Given the description of an element on the screen output the (x, y) to click on. 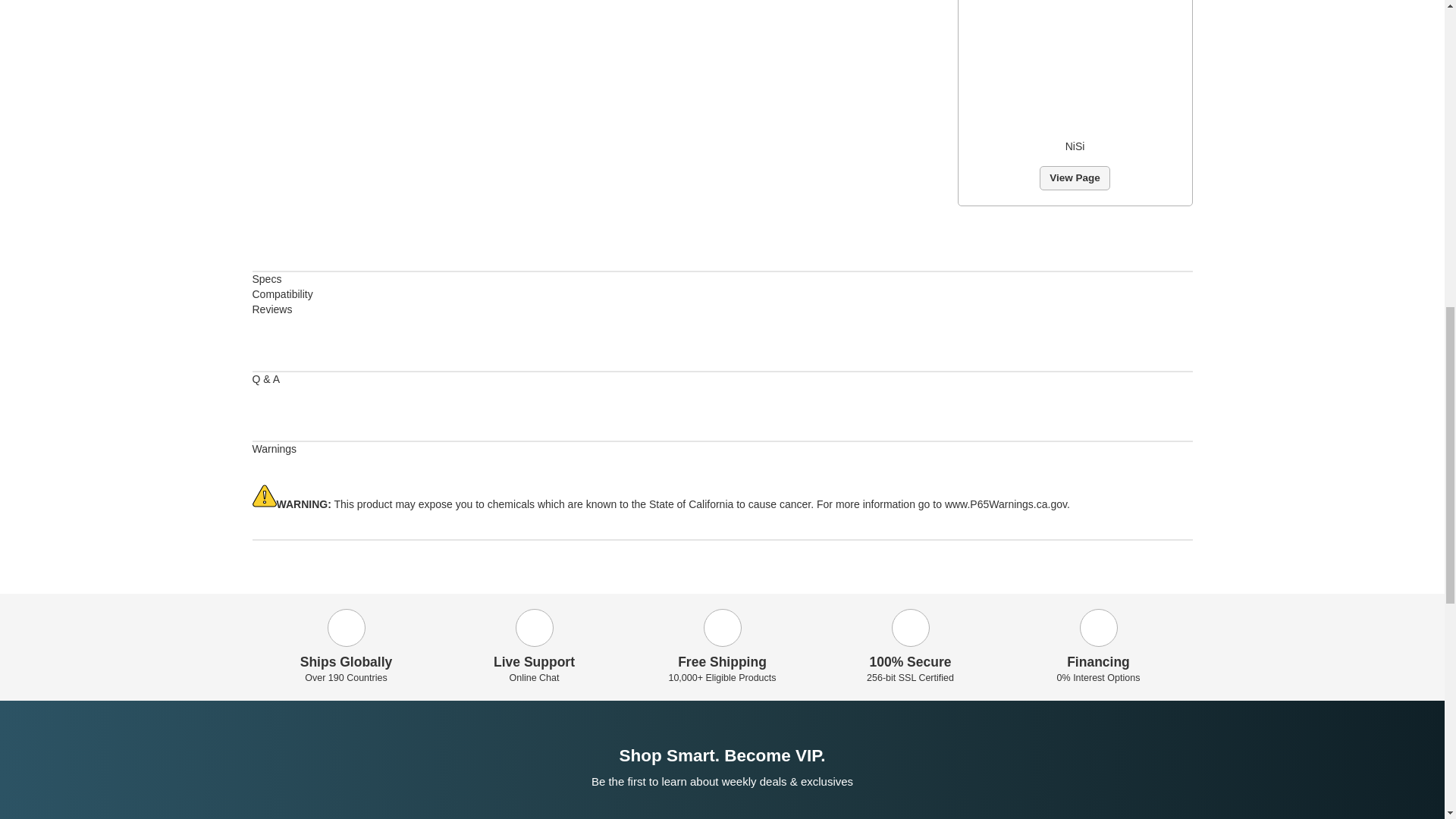
NiSi (1075, 63)
